Given the description of an element on the screen output the (x, y) to click on. 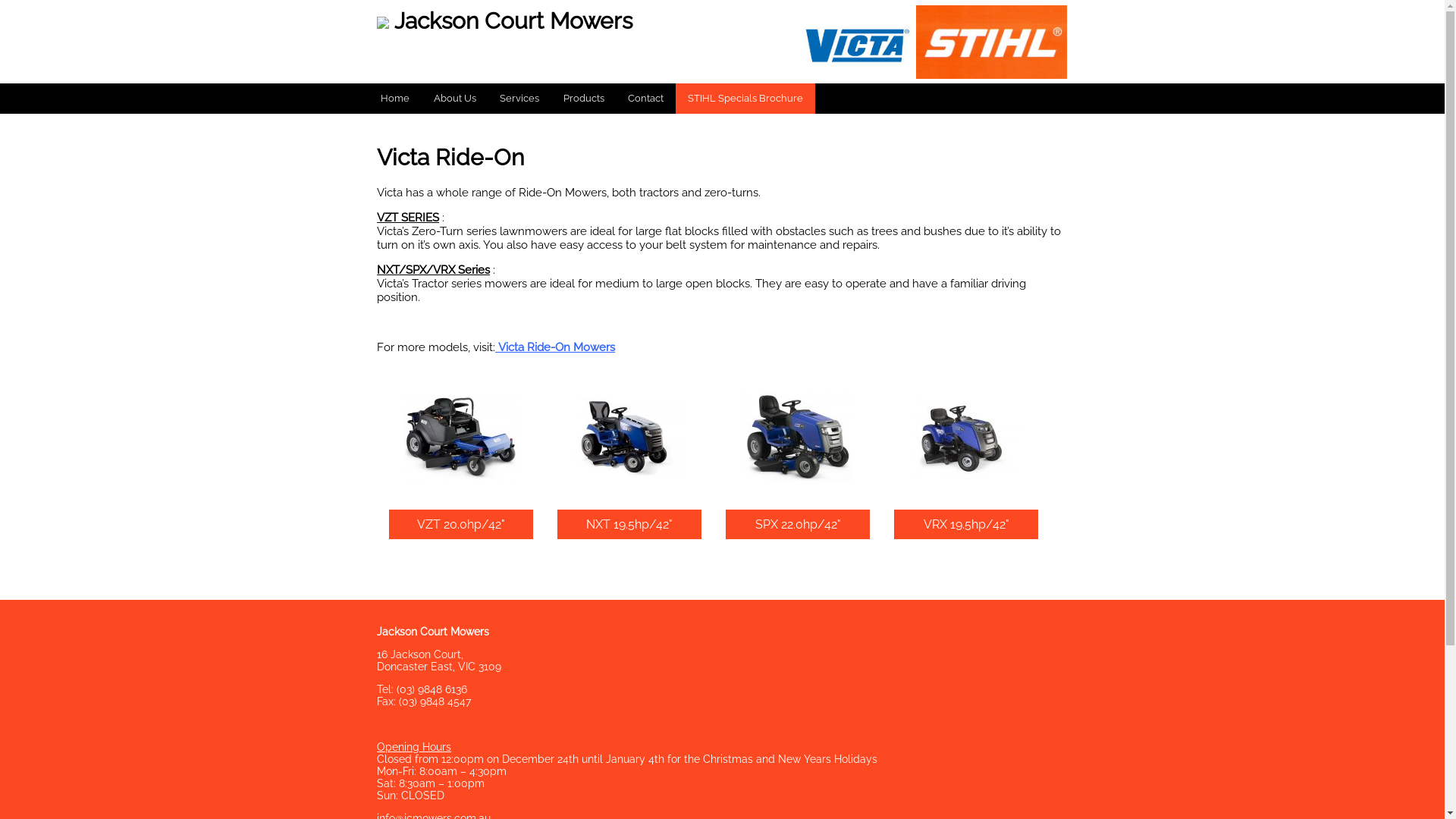
Home Element type: text (395, 98)
STIHL Specials Brochure Element type: text (745, 98)
About Us Element type: text (454, 98)
Products Element type: text (583, 98)
Services Element type: text (520, 98)
SPX 22.0hp/42" Element type: text (797, 524)
VRX 19.5hp/42" Element type: text (966, 524)
Contact Element type: text (646, 98)
NXT 19.5hp/42" Element type: text (629, 524)
VZT 20.0hp/42" Element type: text (461, 524)
Victa Ride-On Mowers Element type: text (556, 347)
